Given the description of an element on the screen output the (x, y) to click on. 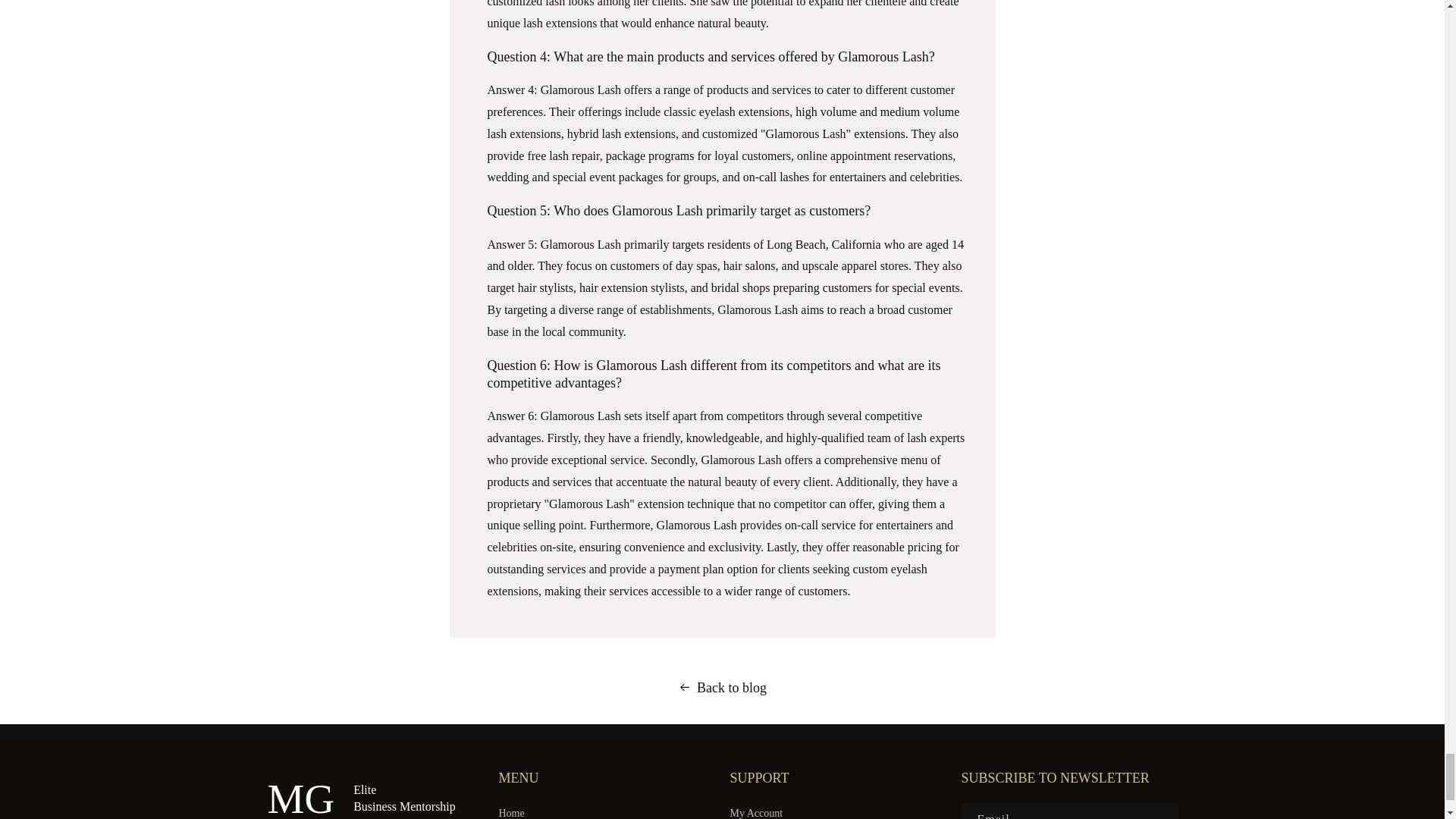
My Account (756, 811)
Home (511, 811)
